Given the description of an element on the screen output the (x, y) to click on. 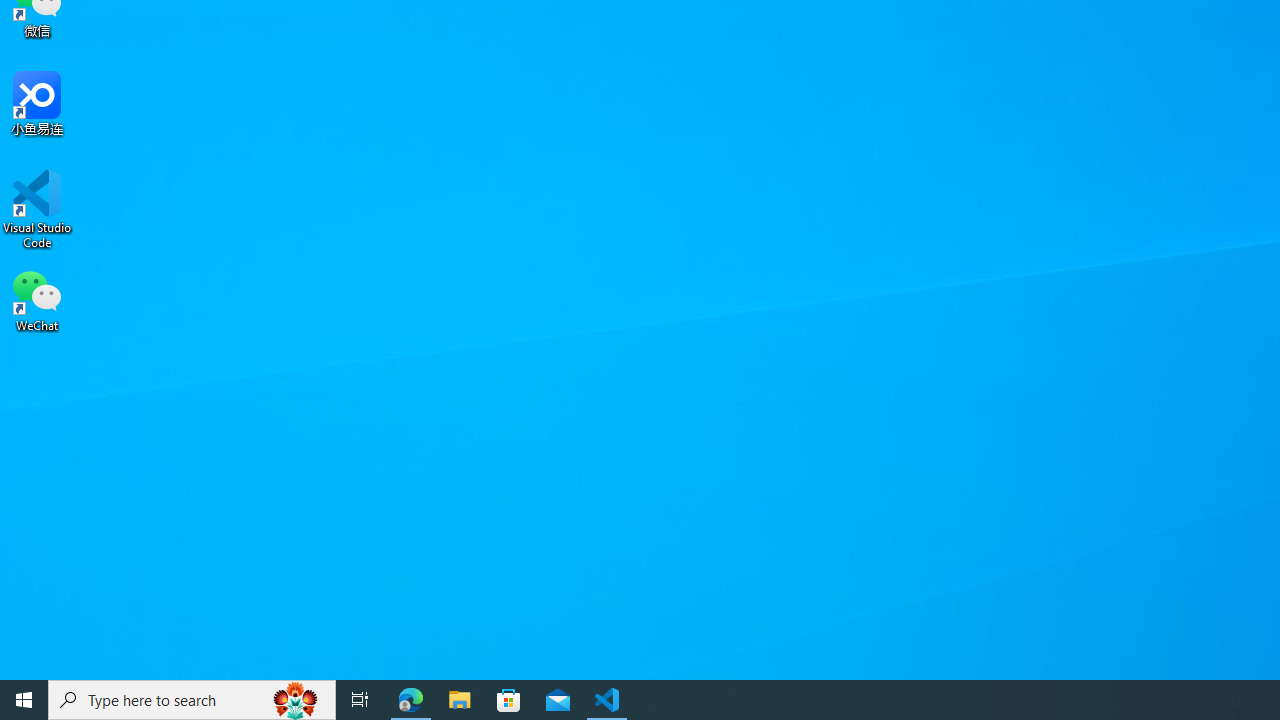
Visual Studio Code (37, 209)
WeChat (37, 299)
